Given the description of an element on the screen output the (x, y) to click on. 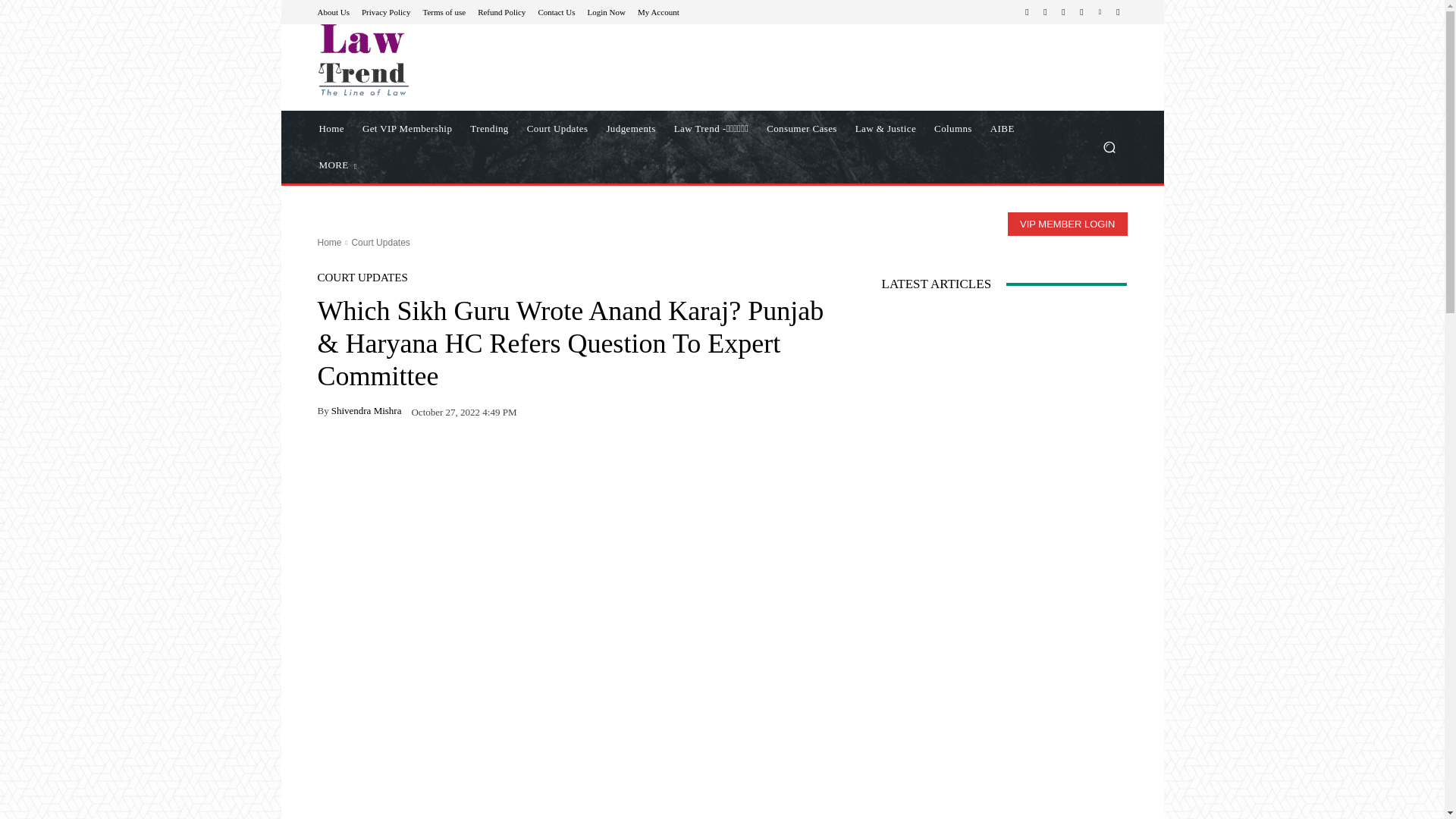
Refund Policy (501, 11)
Contact Us (556, 11)
VIP MEMBER LOGIN (1066, 223)
View all posts in Court Updates (379, 242)
Instagram (1044, 12)
Vimeo (1099, 12)
About Us (333, 11)
Twitter (1080, 12)
My Account (658, 11)
Privacy Policy (385, 11)
Facebook (1026, 12)
Youtube (1117, 12)
Login Now (607, 11)
Law Trend- Legal News Website (425, 59)
Telegram (1062, 12)
